Given the description of an element on the screen output the (x, y) to click on. 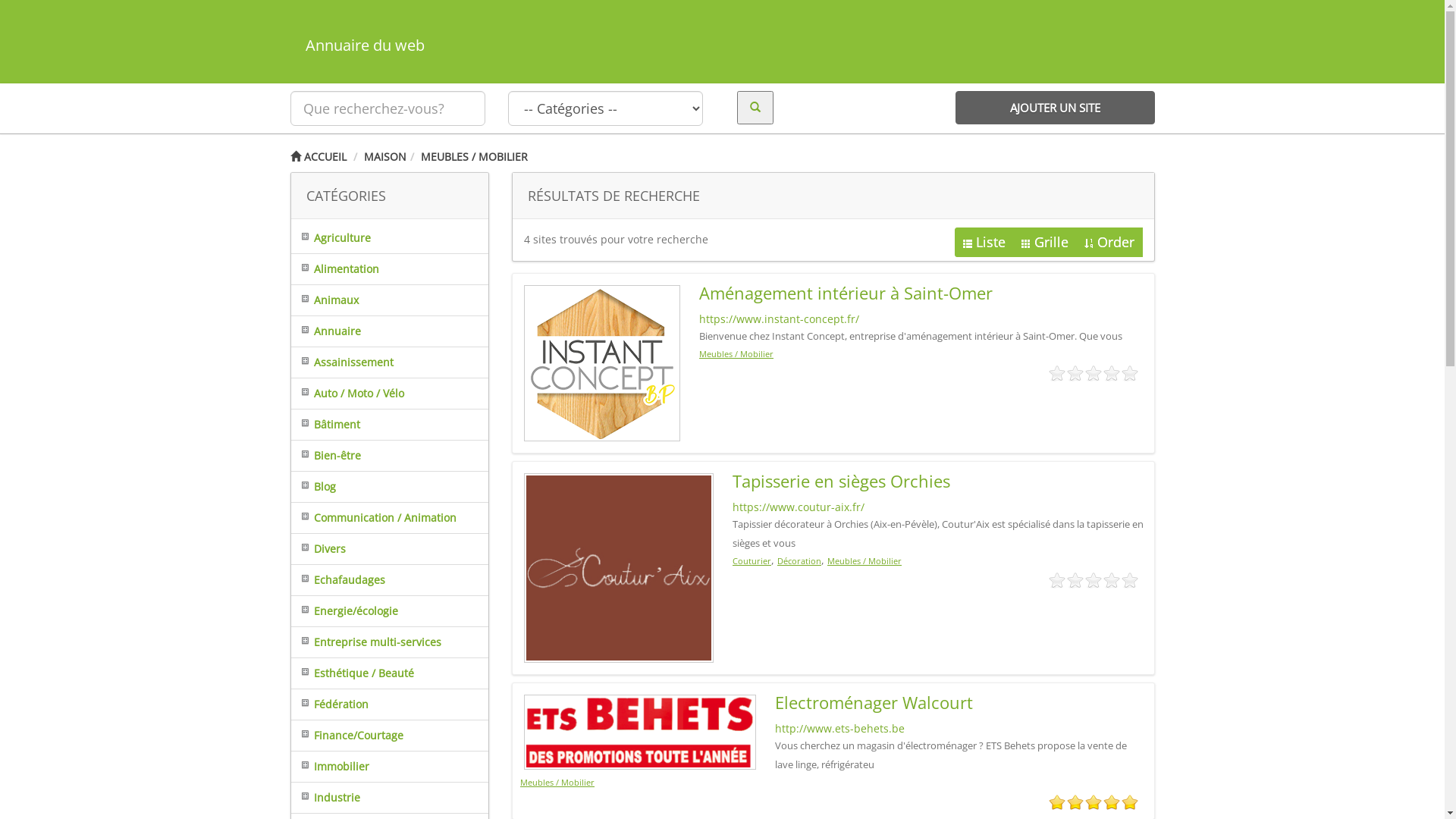
bad Element type: hover (1057, 580)
ACCUEIL Element type: text (317, 156)
Assainissement Element type: text (342, 361)
Blog Element type: text (313, 486)
Grille Element type: text (1044, 242)
Echafaudages Element type: text (338, 579)
https://www.coutur-aix.fr/ Element type: text (798, 506)
poor Element type: hover (1075, 802)
Meubles / Mobilier Element type: text (864, 560)
Couturier Element type: text (751, 560)
bad Element type: hover (1057, 373)
https://www.instant-concept.fr/ Element type: text (779, 318)
good Element type: hover (1111, 373)
Entreprise multi-services Element type: text (366, 641)
good Element type: hover (1111, 802)
gorgeous Element type: hover (1129, 802)
Divers Element type: text (318, 548)
Animaux Element type: text (324, 299)
poor Element type: hover (1075, 373)
gorgeous Element type: hover (1129, 373)
Liste Element type: text (983, 242)
good Element type: hover (1111, 580)
regular Element type: hover (1093, 580)
regular Element type: hover (1093, 373)
Communication / Animation Element type: text (373, 517)
MAISON Element type: text (385, 156)
Finance/Courtage Element type: text (347, 735)
Alimentation Element type: text (335, 268)
Meubles / Mobilier Element type: text (557, 781)
poor Element type: hover (1075, 580)
regular Element type: hover (1093, 802)
Industrie Element type: text (325, 797)
Agriculture Element type: text (330, 237)
Annuaire du web Element type: text (721, 45)
bad Element type: hover (1057, 802)
Immobilier Element type: text (330, 766)
MEUBLES / MOBILIER Element type: text (473, 156)
AJOUTER UN SITE Element type: text (1055, 107)
Meubles / Mobilier Element type: text (736, 353)
Annuaire Element type: text (325, 330)
http://www.ets-behets.be Element type: text (839, 728)
gorgeous Element type: hover (1129, 580)
Order Element type: text (1108, 242)
